Given the description of an element on the screen output the (x, y) to click on. 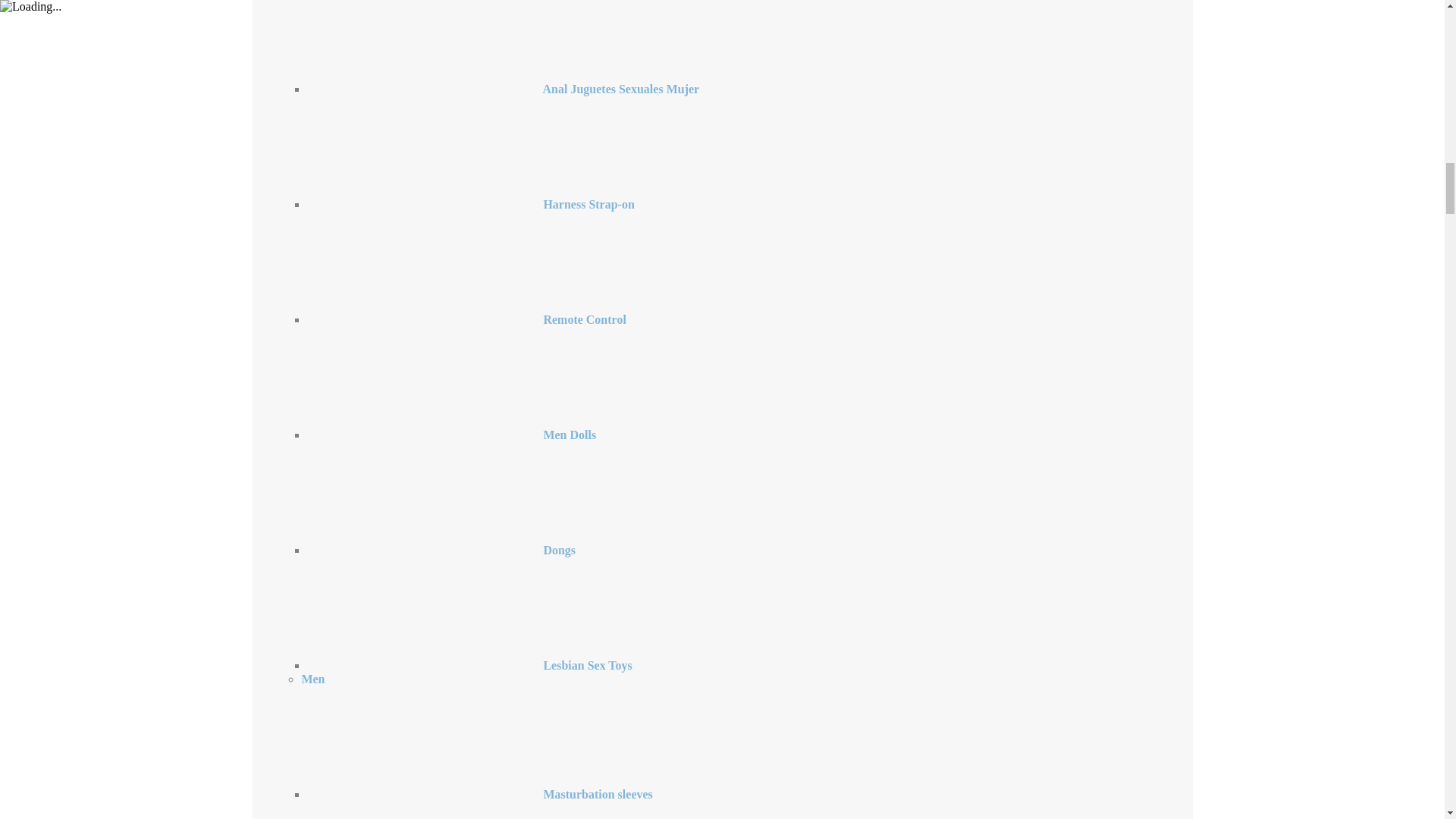
Harness Strap-on (470, 204)
Anal Juguetes Sexuales Mujer (502, 88)
Remote Control (466, 318)
